Given the description of an element on the screen output the (x, y) to click on. 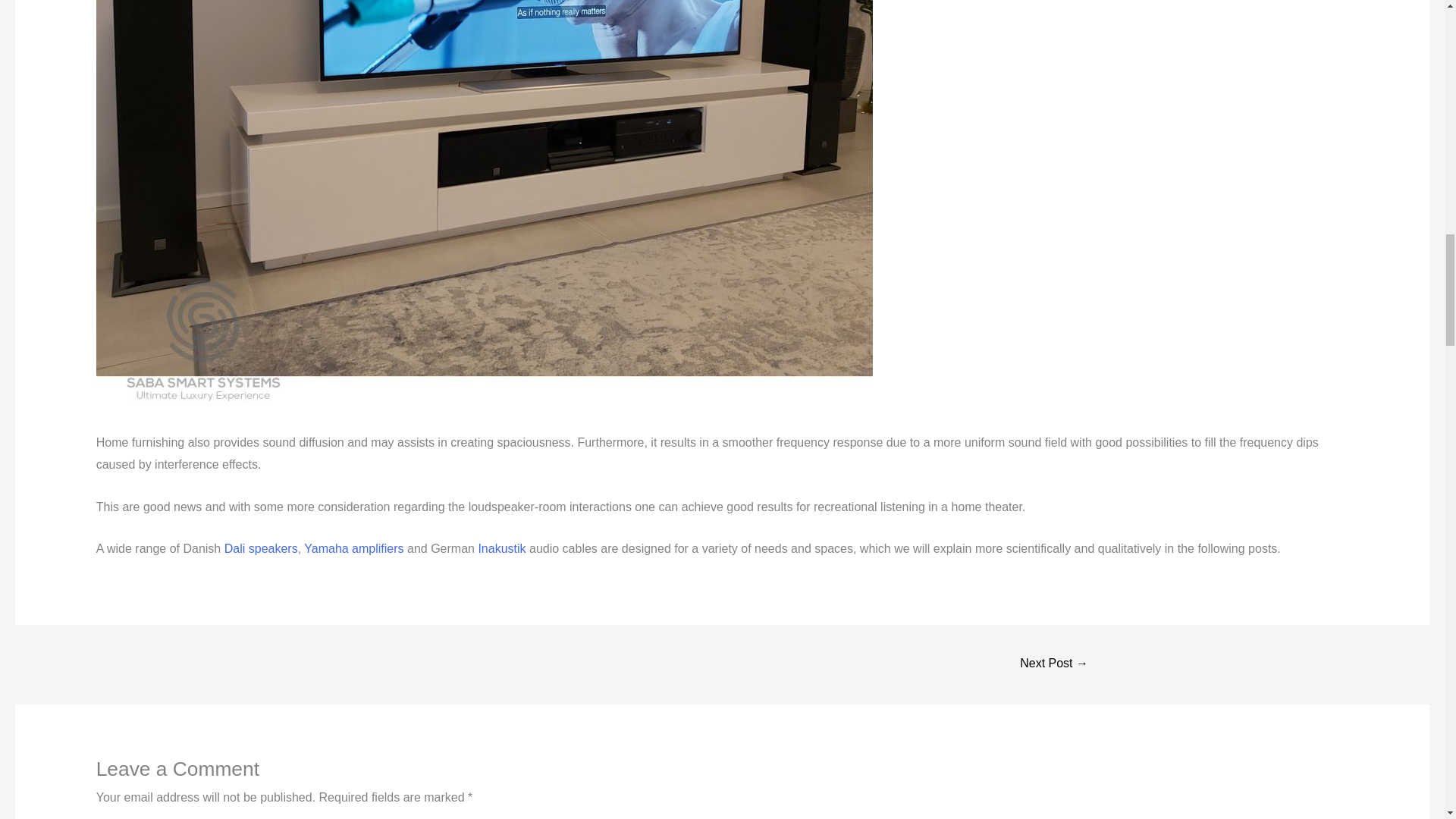
Yamaha amplifiers (353, 548)
Inakustik (503, 548)
Dali speakers (261, 548)
